Given the description of an element on the screen output the (x, y) to click on. 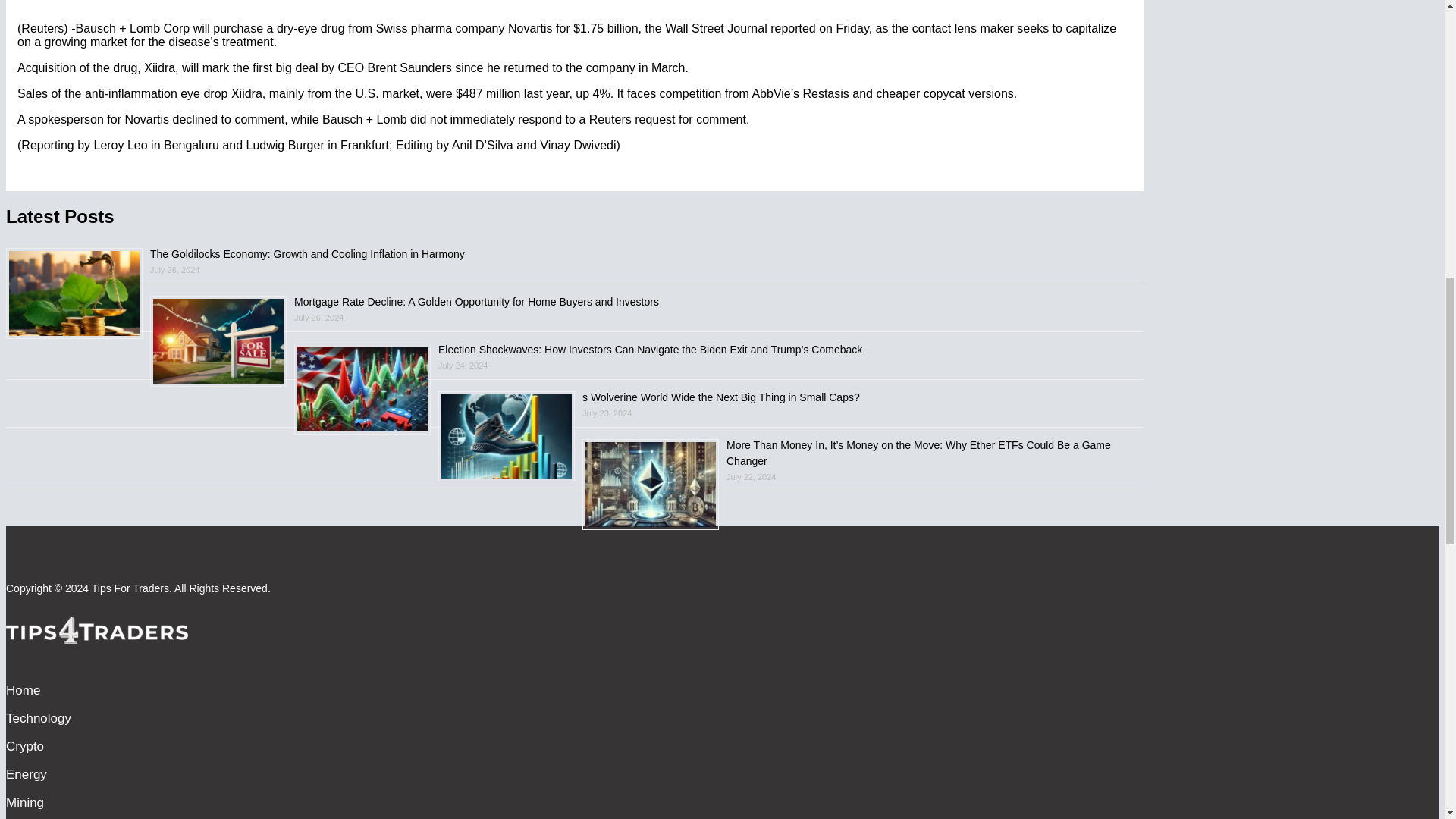
Crypto (24, 746)
Energy (25, 774)
Home (22, 690)
Technology (38, 718)
s Wolverine World Wide the Next Big Thing in Small Caps? (721, 397)
Mining (24, 802)
